Given the description of an element on the screen output the (x, y) to click on. 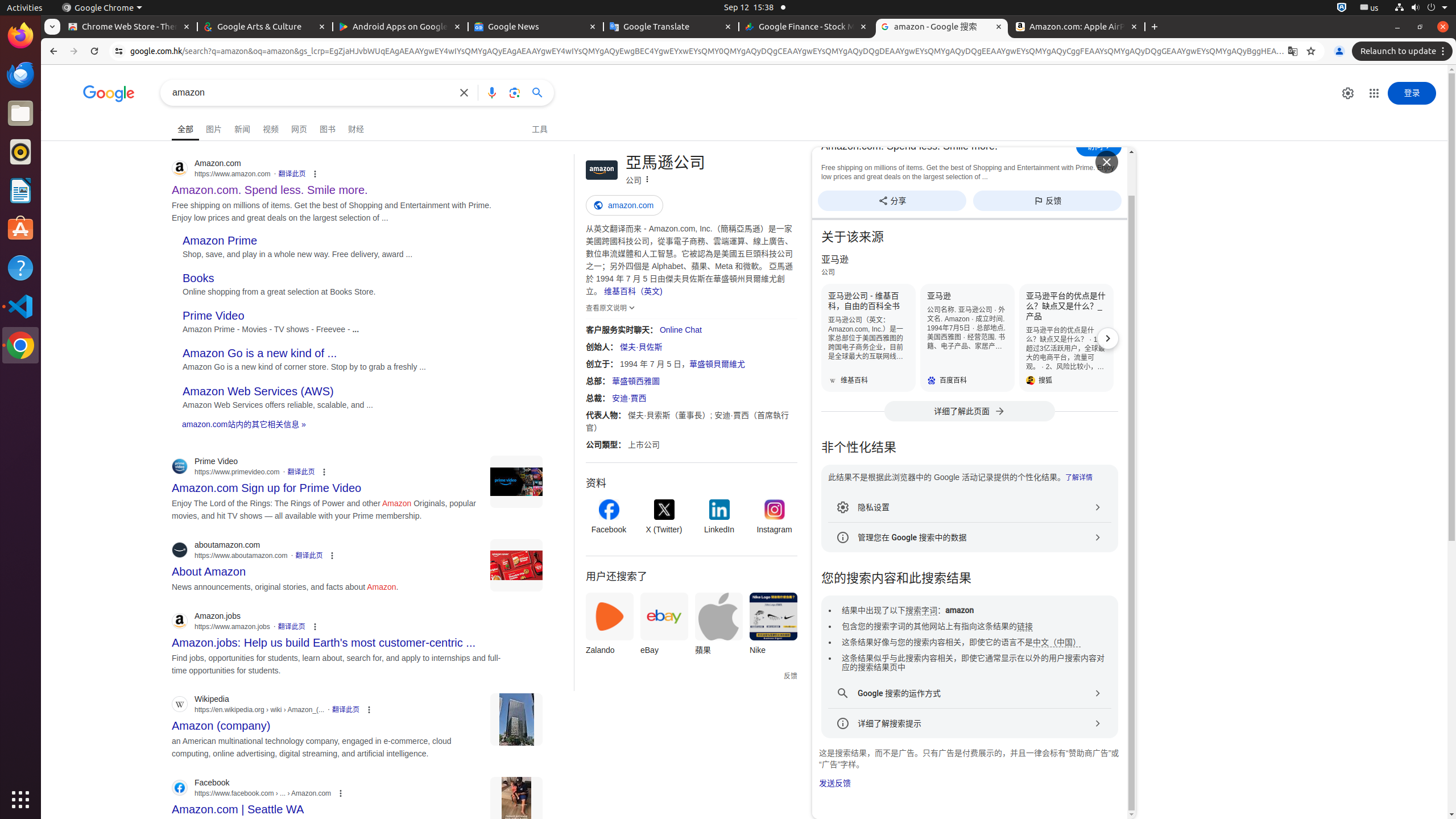
跳到主要内容 Element type: link (78, 110)
Android Apps on Google Play - Memory usage - 60.6 MB Element type: page-tab (400, 26)
Instagram Element type: link (774, 517)
 Amazon.com. Spend less. Smile more. Amazon.com https://www.amazon.com Element type: link (269, 186)
Help Element type: push-button (20, 267)
